Given the description of an element on the screen output the (x, y) to click on. 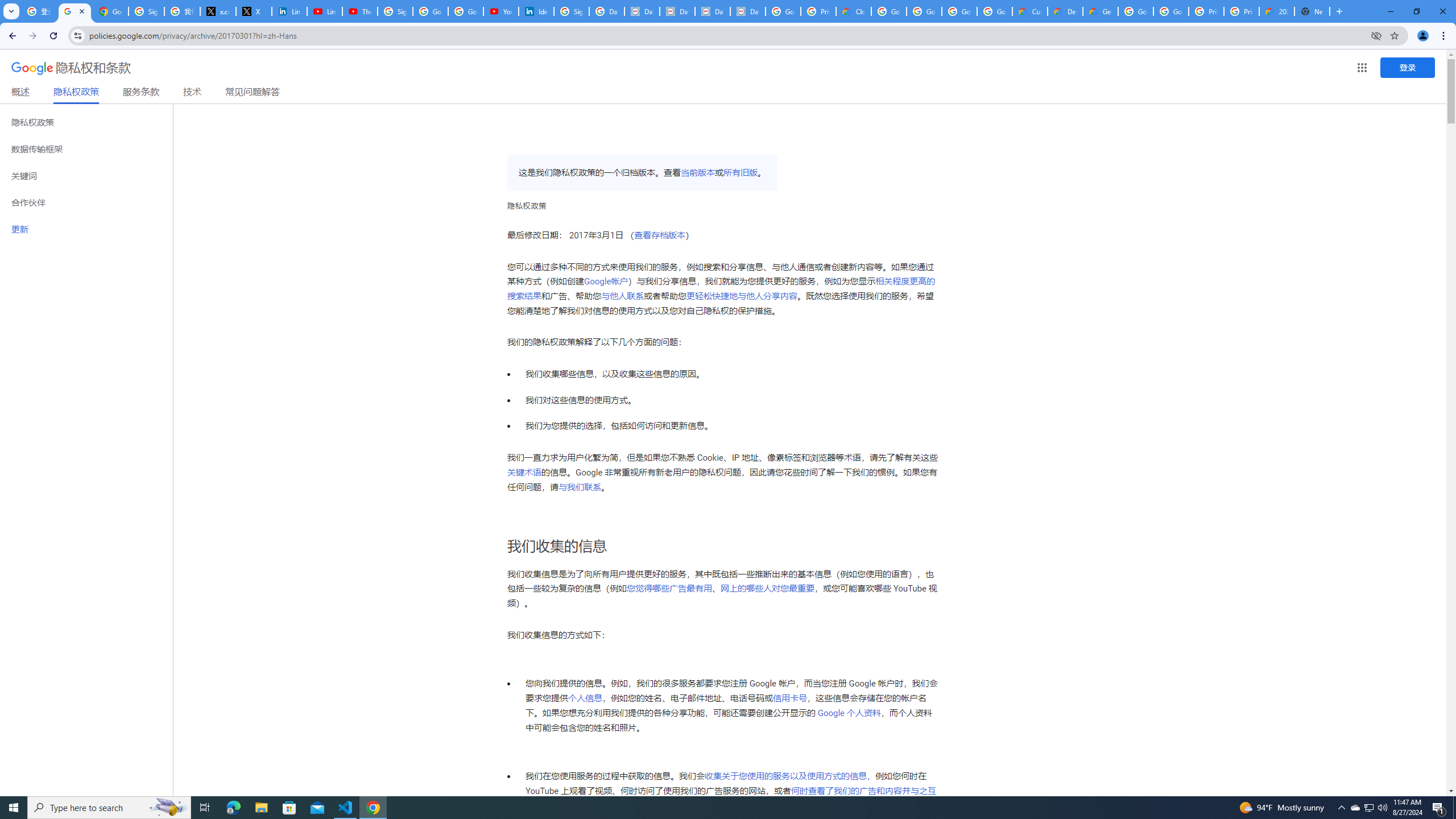
New Tab (1312, 11)
X (253, 11)
LinkedIn - YouTube (324, 11)
